Given the description of an element on the screen output the (x, y) to click on. 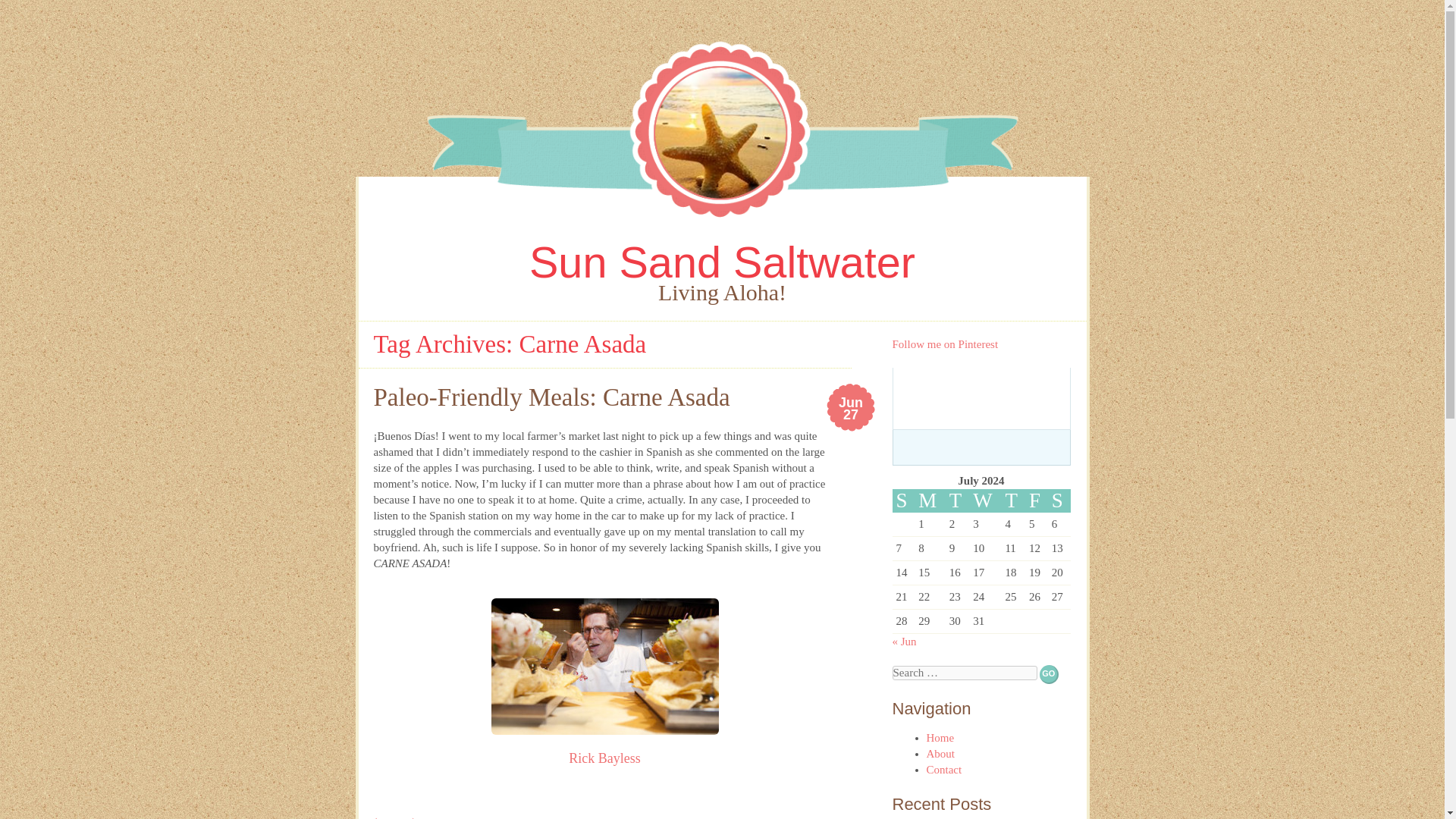
Permanent Link toPaleo-Friendly Meals: Carne Asada (851, 409)
Paleo-Friendly Meals: Carne Asada (550, 397)
Wednesday (985, 500)
Tuesday (956, 500)
Go (1048, 674)
Sunday (902, 500)
About (851, 409)
Home (940, 753)
Contact (940, 737)
Thursday (944, 769)
Sun Sand Saltwater (1013, 500)
Rick Bayless (722, 262)
Sun Sand Saltwater (604, 758)
Permalink to Paleo-Friendly Meals: Carne Asada (722, 262)
